Given the description of an element on the screen output the (x, y) to click on. 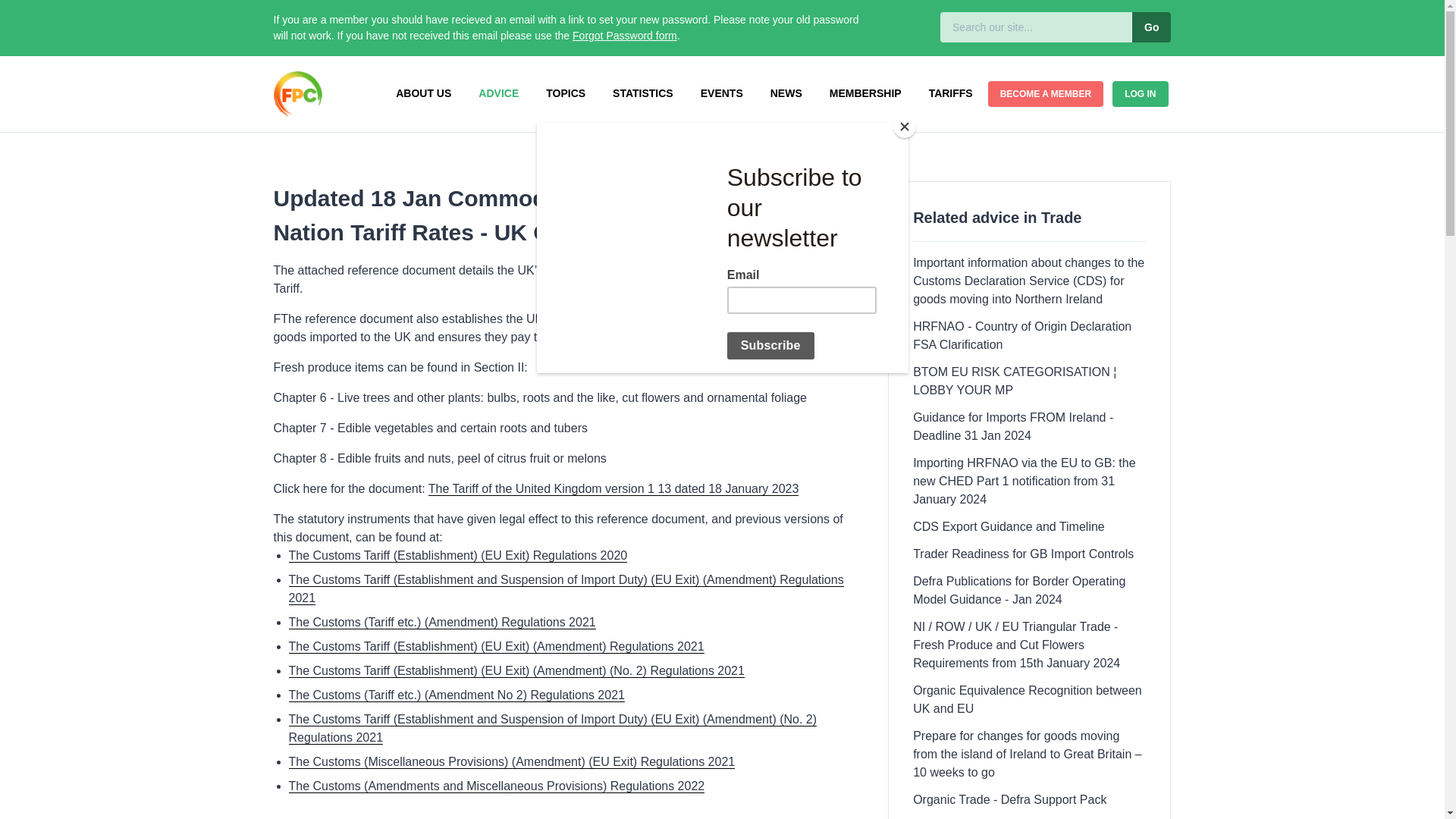
Guidance for Imports FROM Ireland - Deadline 31 Jan 2024 (1012, 426)
ABOUT US (423, 93)
Forgot Password form (624, 35)
BECOME A MEMBER (1045, 94)
HRFNAO - Country of Origin Declaration FSA Clarification (1021, 335)
TOPICS (565, 93)
LOG IN (1139, 94)
EVENTS (721, 93)
NEWS (785, 93)
STATISTICS (642, 93)
MEMBERSHIP (865, 93)
Go (1150, 27)
ADVICE (498, 93)
